Given the description of an element on the screen output the (x, y) to click on. 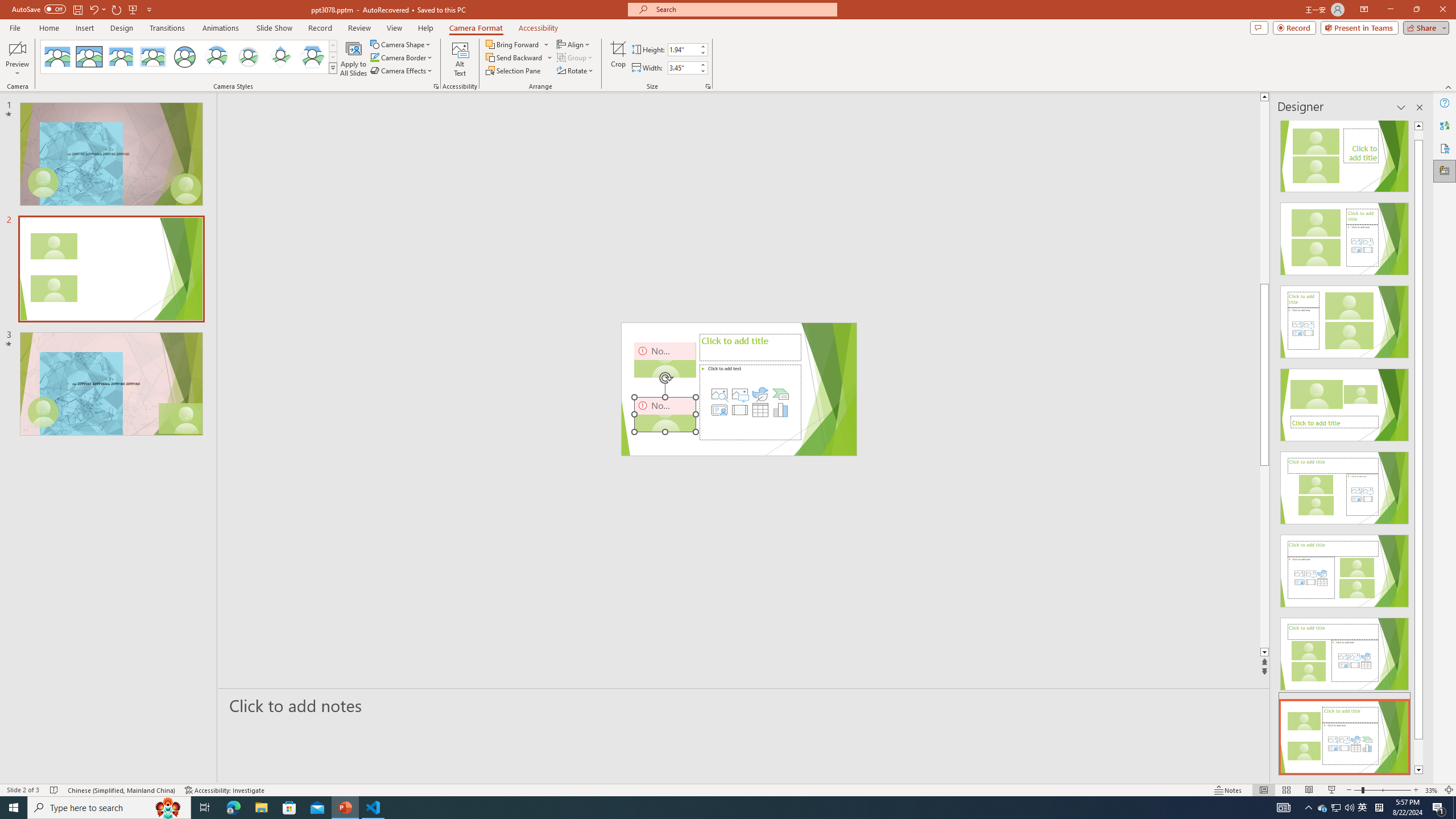
Selection Pane... (513, 69)
AutomationID: CameoStylesGallery (189, 56)
